Given the description of an element on the screen output the (x, y) to click on. 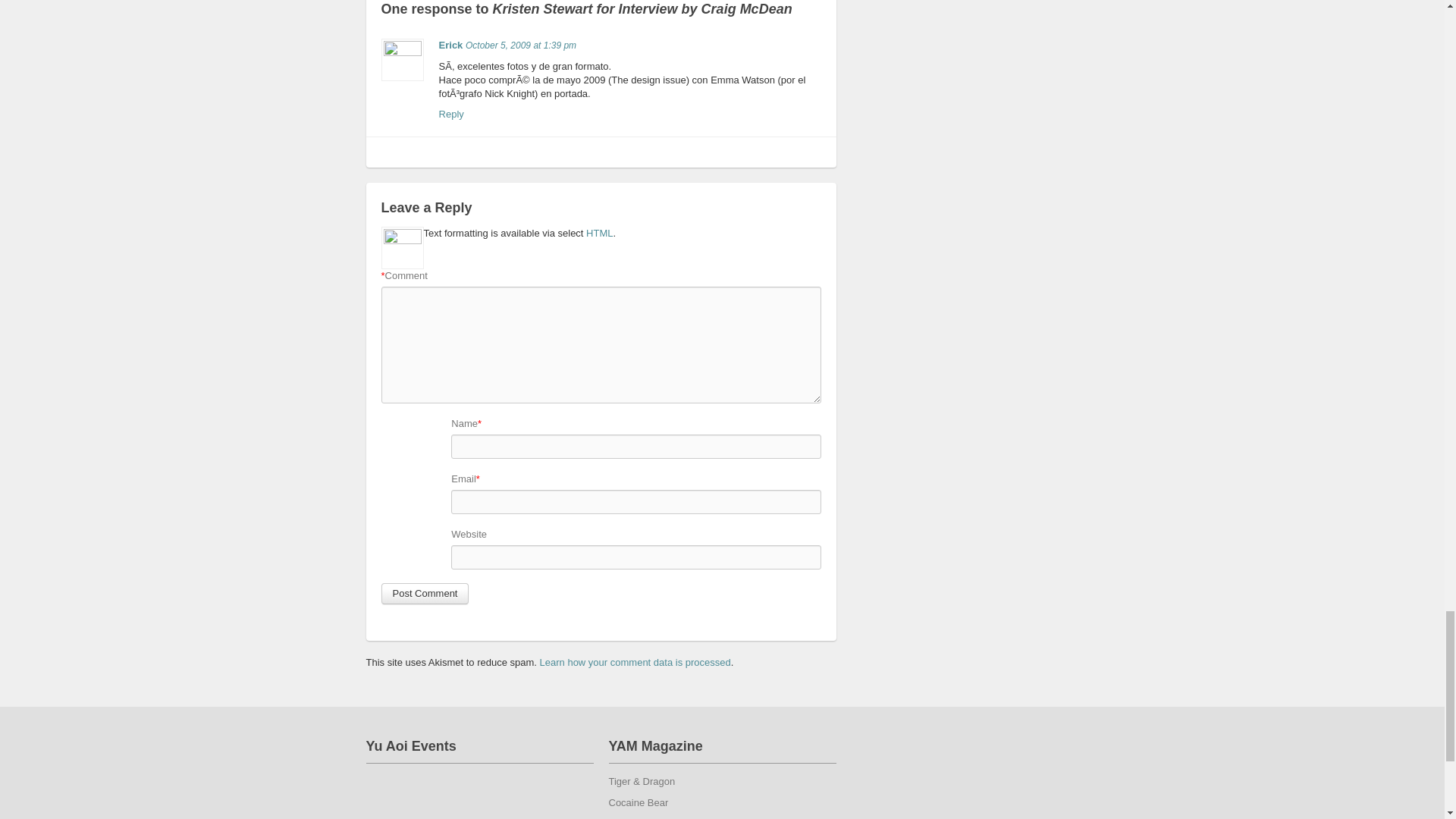
Post Comment (424, 593)
Erick (451, 44)
Reply (451, 113)
Permalink (520, 45)
Learn how your comment data is processed (635, 662)
October 5, 2009 at 1:39 pm (520, 45)
Post Comment (424, 593)
HTML (599, 233)
